Given the description of an element on the screen output the (x, y) to click on. 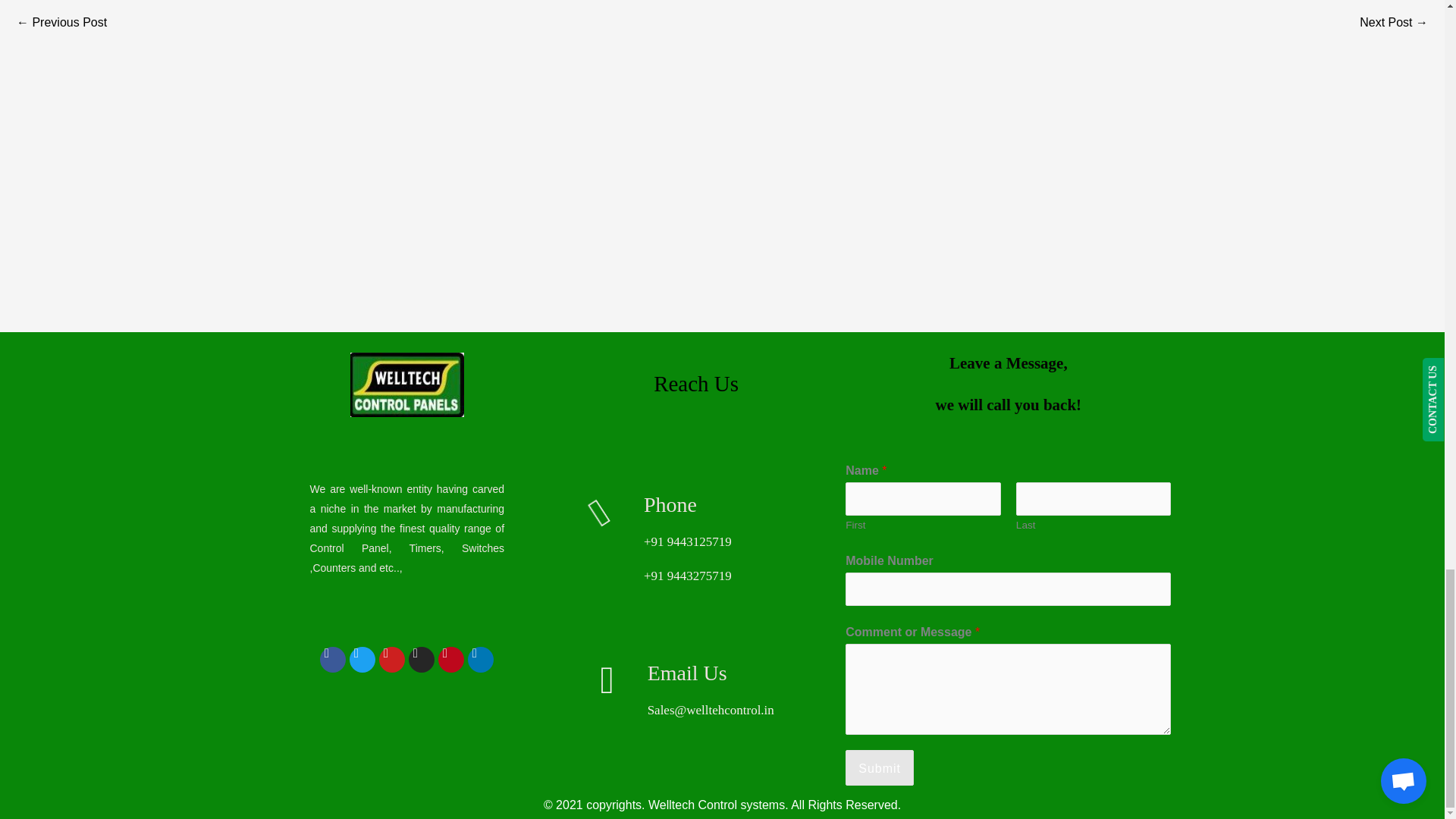
Submit (879, 768)
Linkedin (480, 659)
Youtube (391, 659)
Pinterest (451, 659)
Instagram (421, 659)
Twitter (362, 659)
Bitcoin Usd Btc (1393, 23)
Facebook (333, 659)
